Given the description of an element on the screen output the (x, y) to click on. 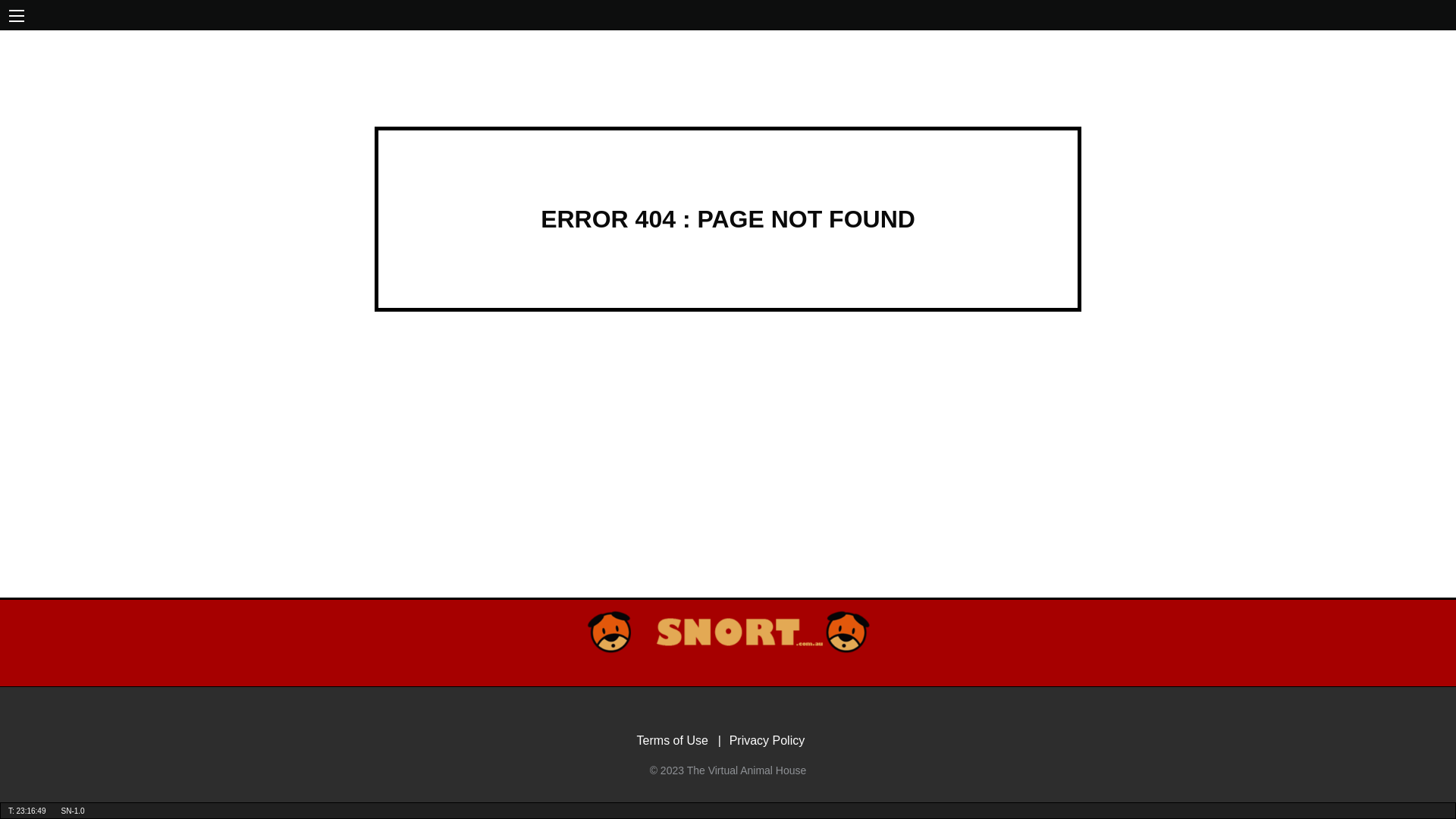
Privacy Policy Element type: text (774, 740)
Terms of Use Element type: text (681, 740)
